Given the description of an element on the screen output the (x, y) to click on. 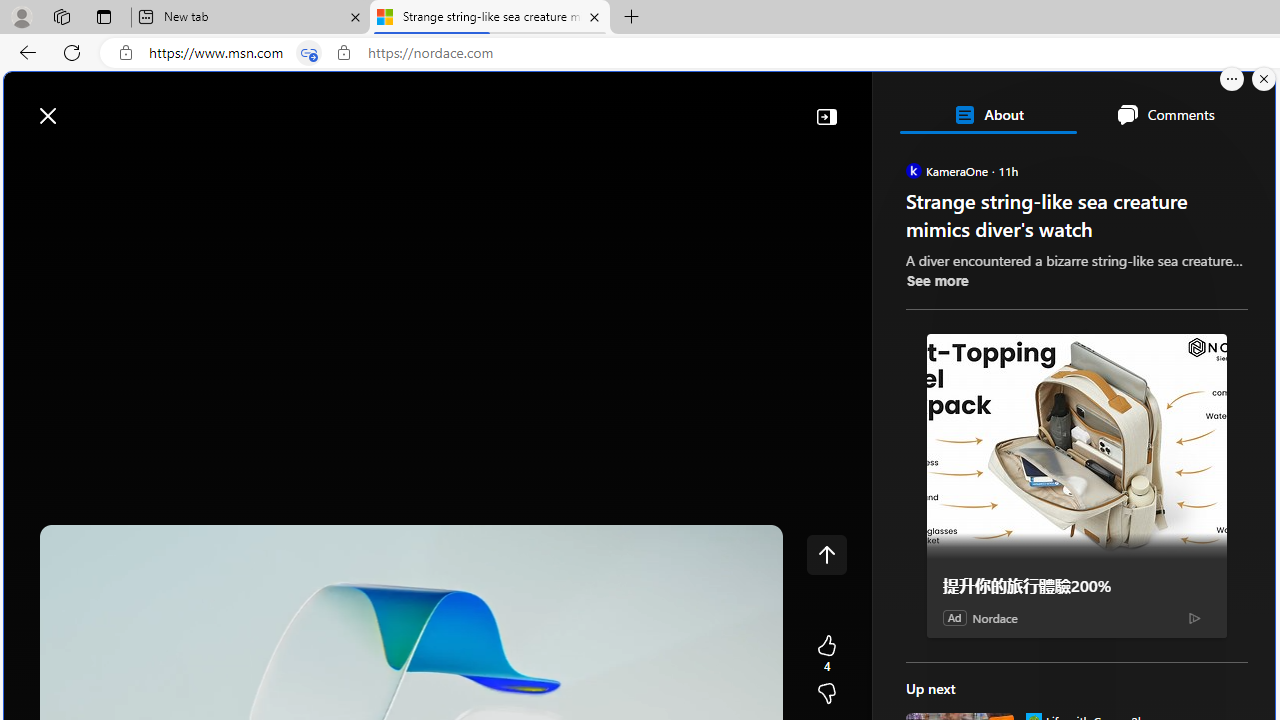
Following (172, 162)
More options. (1232, 79)
Dislike (826, 693)
Discover (91, 162)
Tab actions menu (104, 16)
Workspaces (61, 16)
About (987, 114)
Close split screen. (1264, 79)
Open navigation menu (29, 162)
Ad Choice (1193, 617)
Following (173, 162)
Back (24, 52)
